Given the description of an element on the screen output the (x, y) to click on. 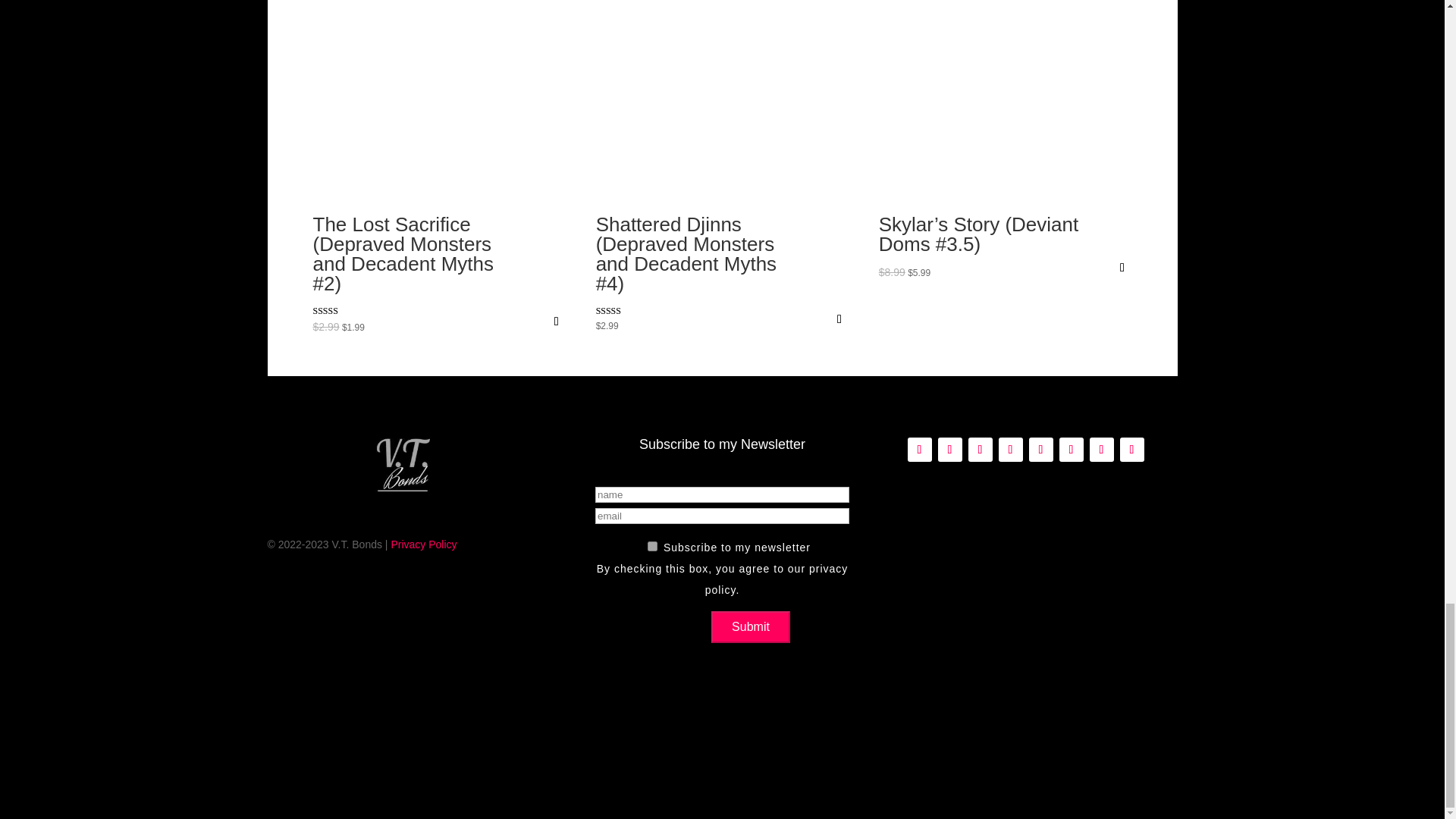
vtbonds (401, 465)
Submit (750, 626)
Follow on Amazon (919, 449)
Subscribe to my newsletter (652, 546)
